Given the description of an element on the screen output the (x, y) to click on. 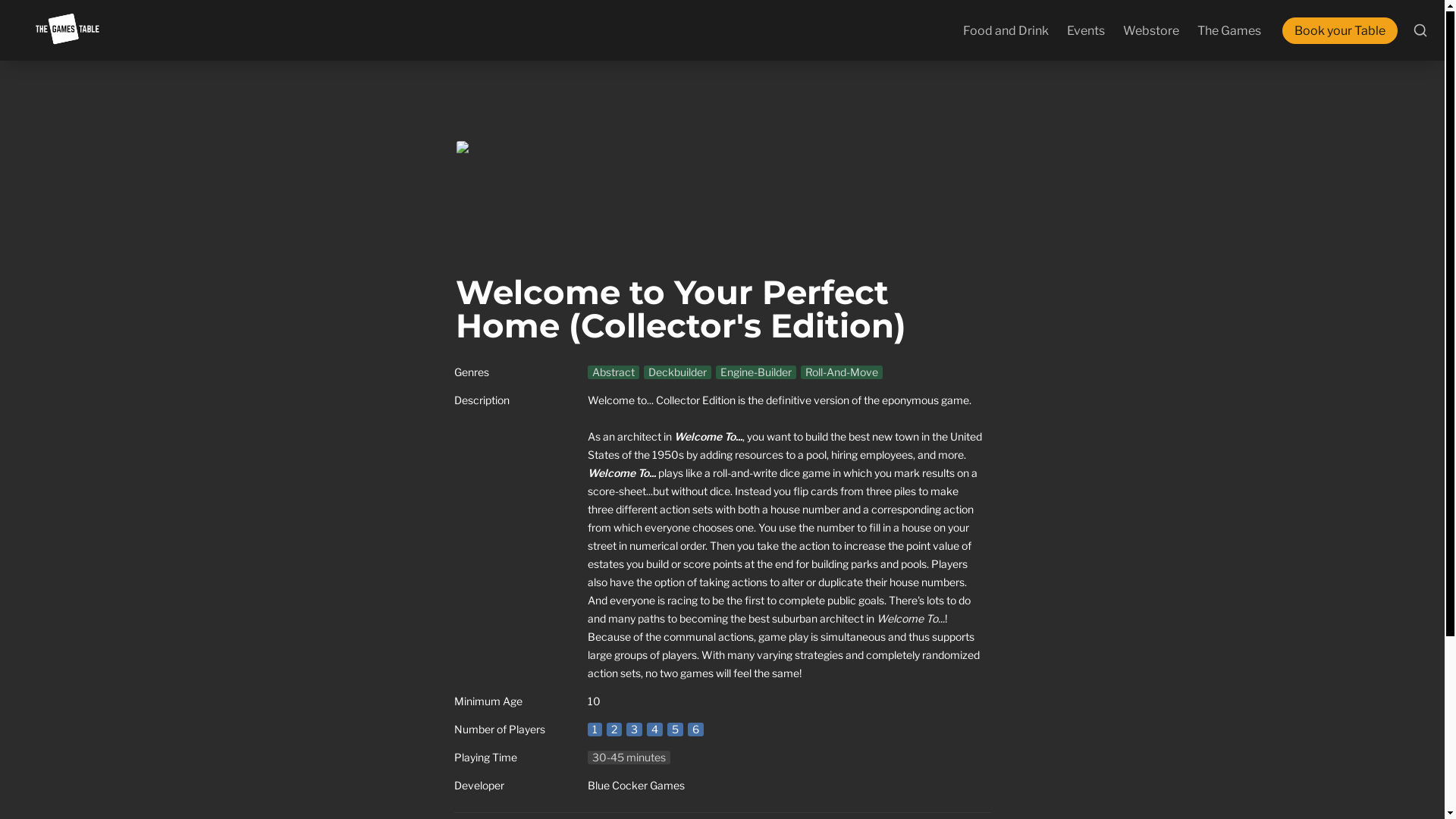
Webstore (1150, 29)
Book your Table (1342, 29)
Food and Drink (1005, 29)
Events (1085, 29)
The Games (1228, 29)
